Given the description of an element on the screen output the (x, y) to click on. 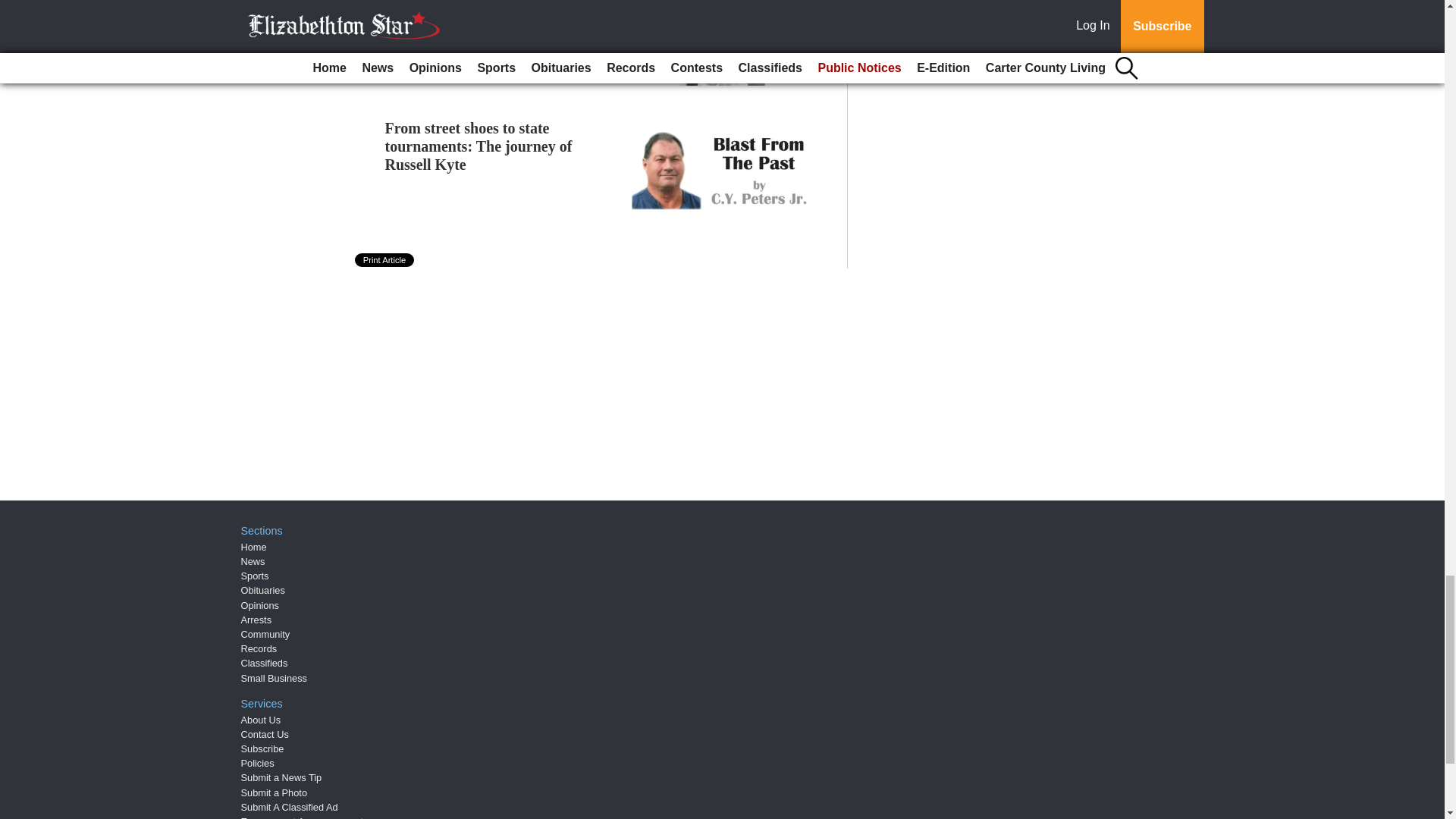
Print Article (384, 259)
